Given the description of an element on the screen output the (x, y) to click on. 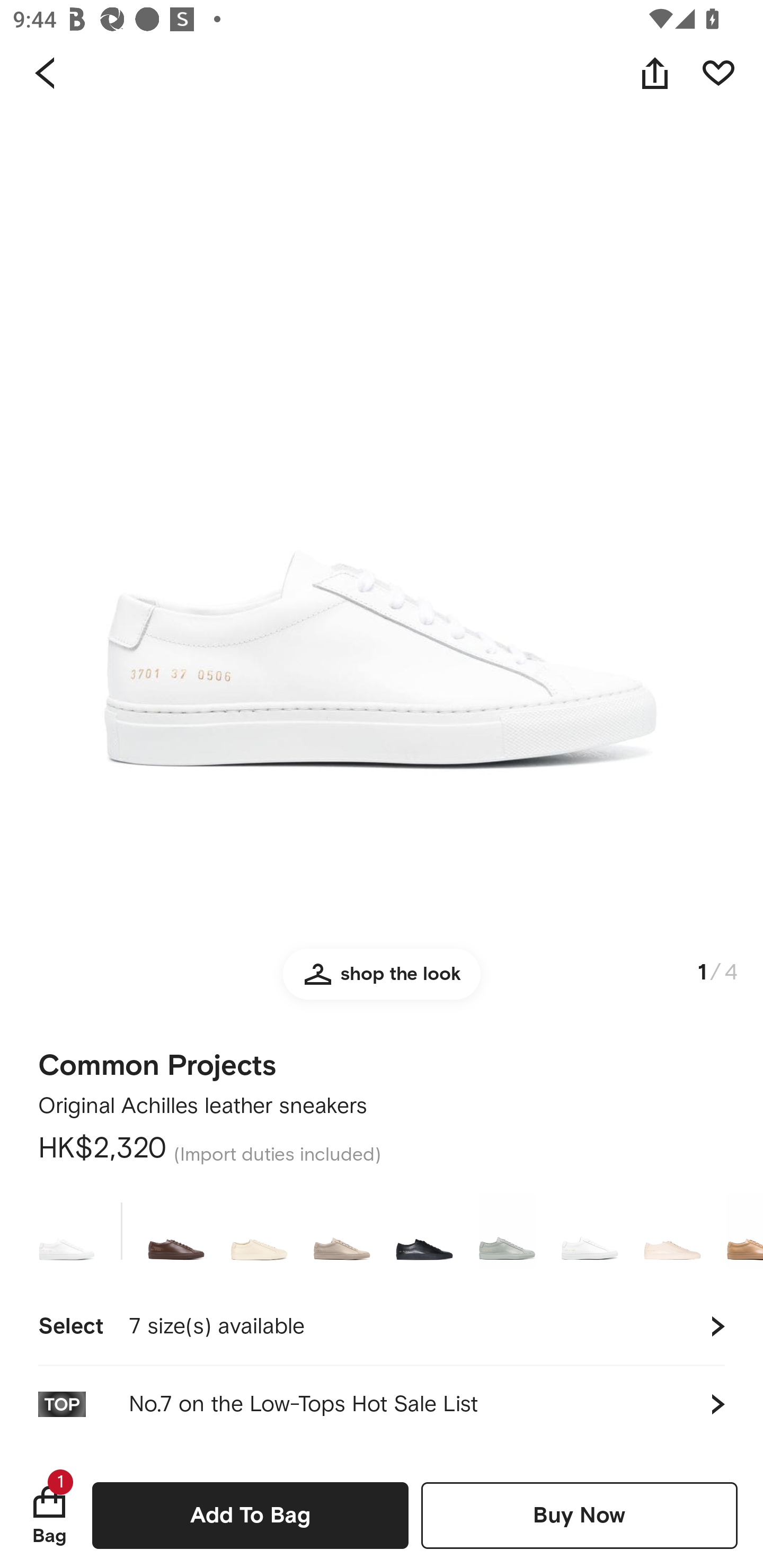
shop the look (381, 982)
Common Projects (157, 1059)
Select 7 size(s) available (381, 1326)
No.7 on the Low-Tops Hot Sale List (381, 1403)
Bag 1 (49, 1515)
Add To Bag (250, 1515)
Buy Now (579, 1515)
